Given the description of an element on the screen output the (x, y) to click on. 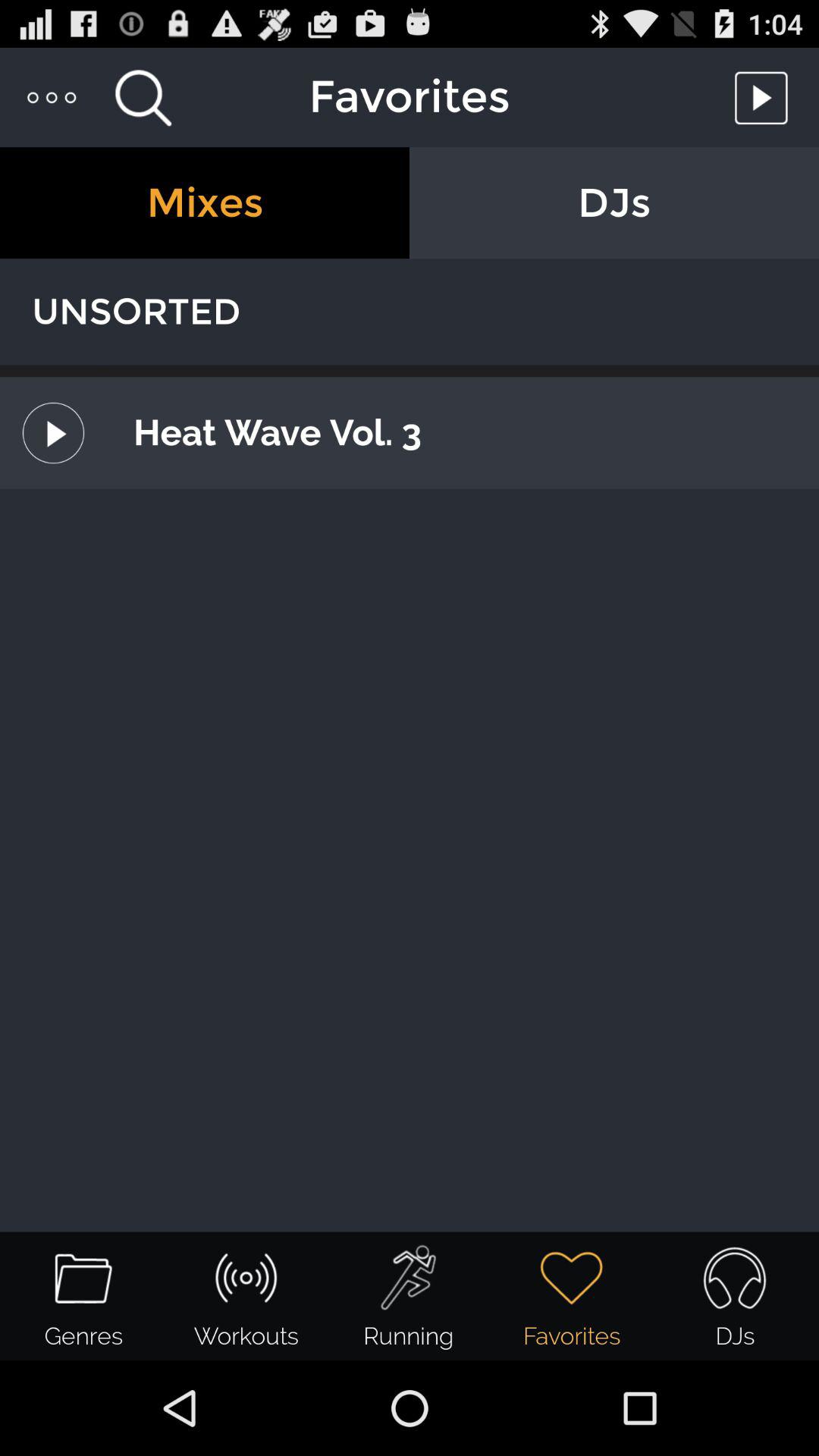
choose icon next to the heat wave vol (53, 432)
